Given the description of an element on the screen output the (x, y) to click on. 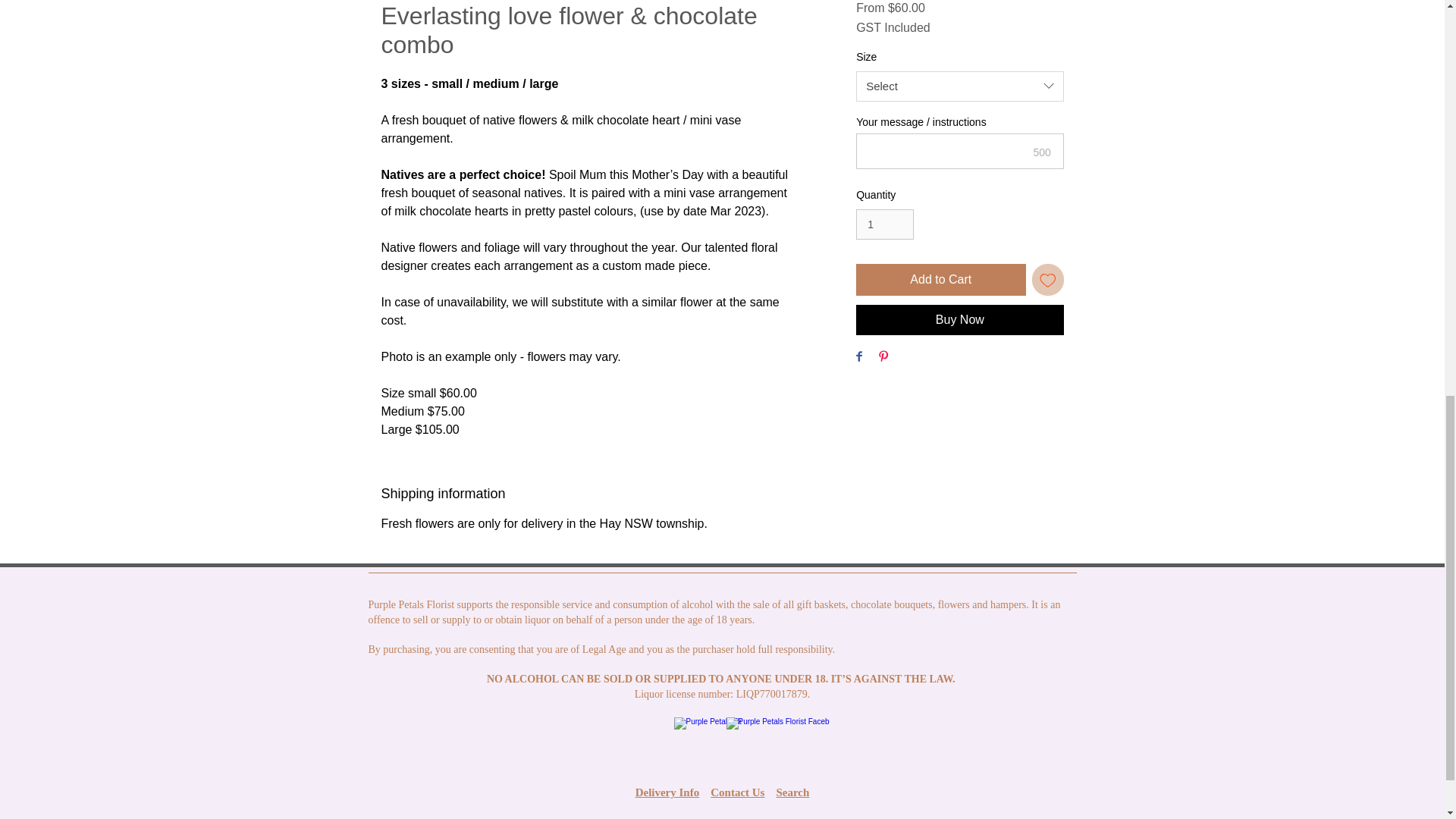
Search (792, 792)
1 (885, 224)
Delivery Info (667, 792)
Cleveronline (822, 818)
Buy Now (959, 319)
Add to Cart (940, 279)
Contact Us (737, 792)
Select (959, 86)
